Given the description of an element on the screen output the (x, y) to click on. 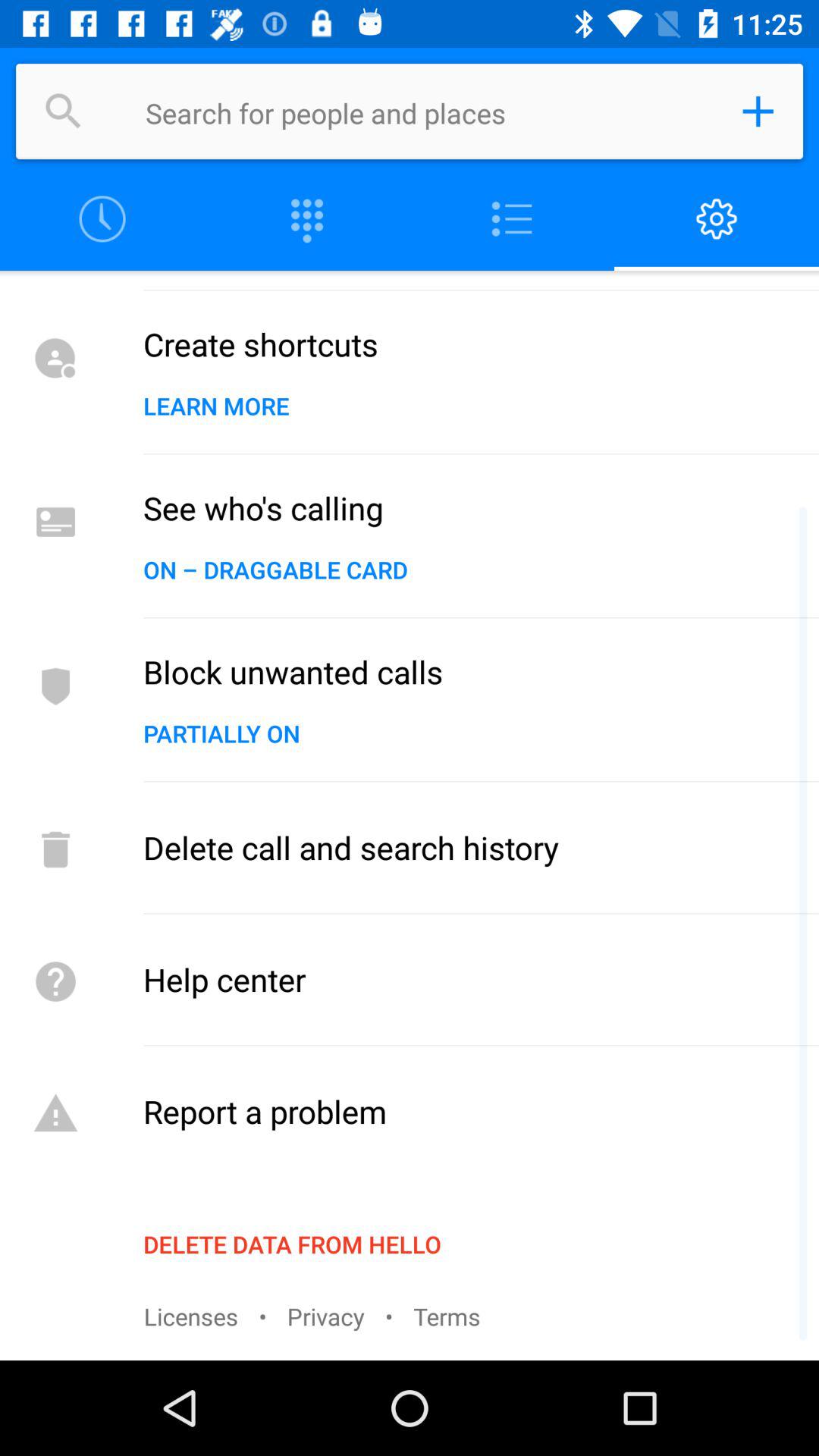
tile view (306, 219)
